Given the description of an element on the screen output the (x, y) to click on. 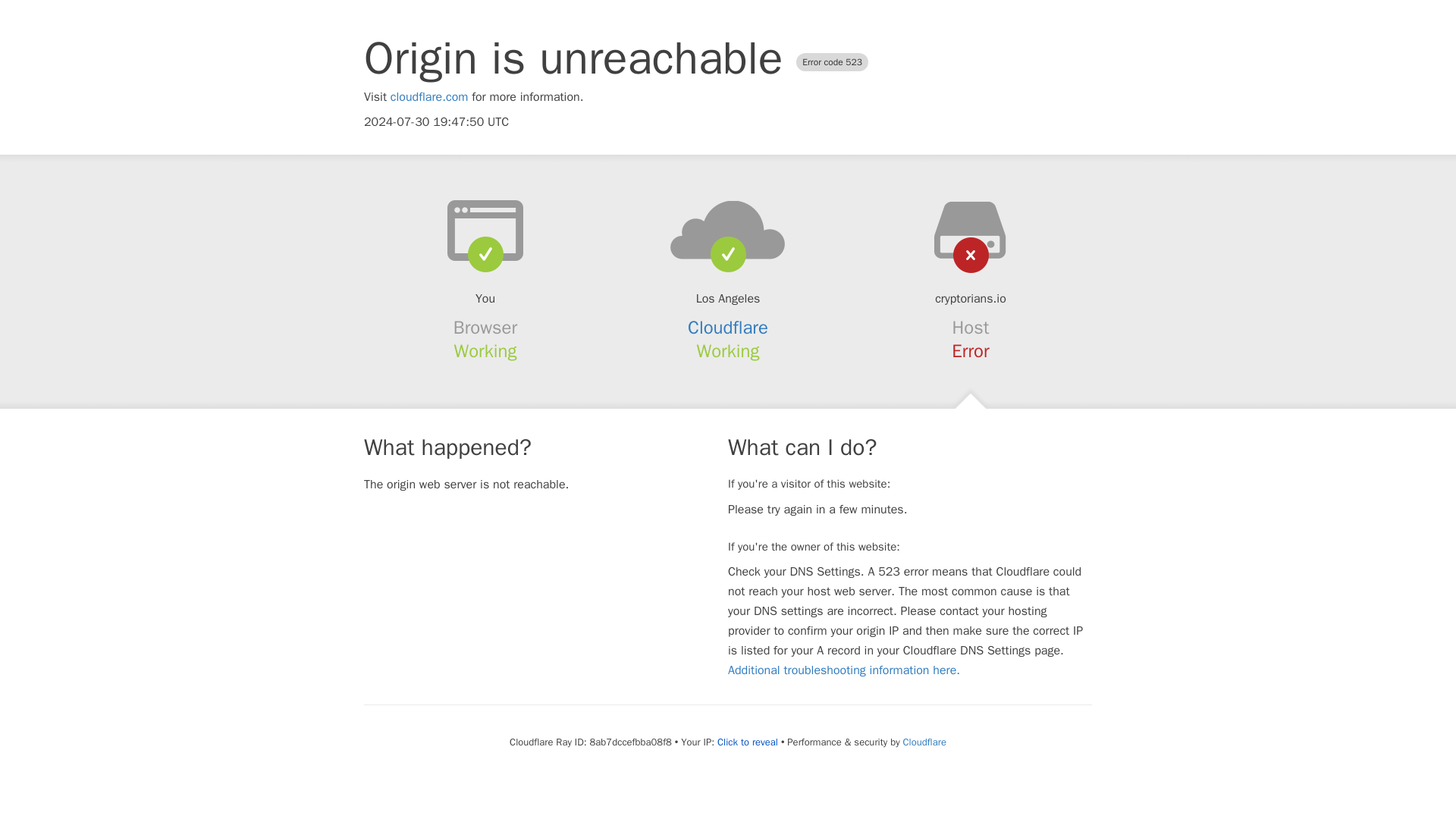
Cloudflare (727, 327)
Click to reveal (747, 742)
cloudflare.com (429, 96)
Cloudflare (924, 741)
Additional troubleshooting information here. (843, 670)
